Given the description of an element on the screen output the (x, y) to click on. 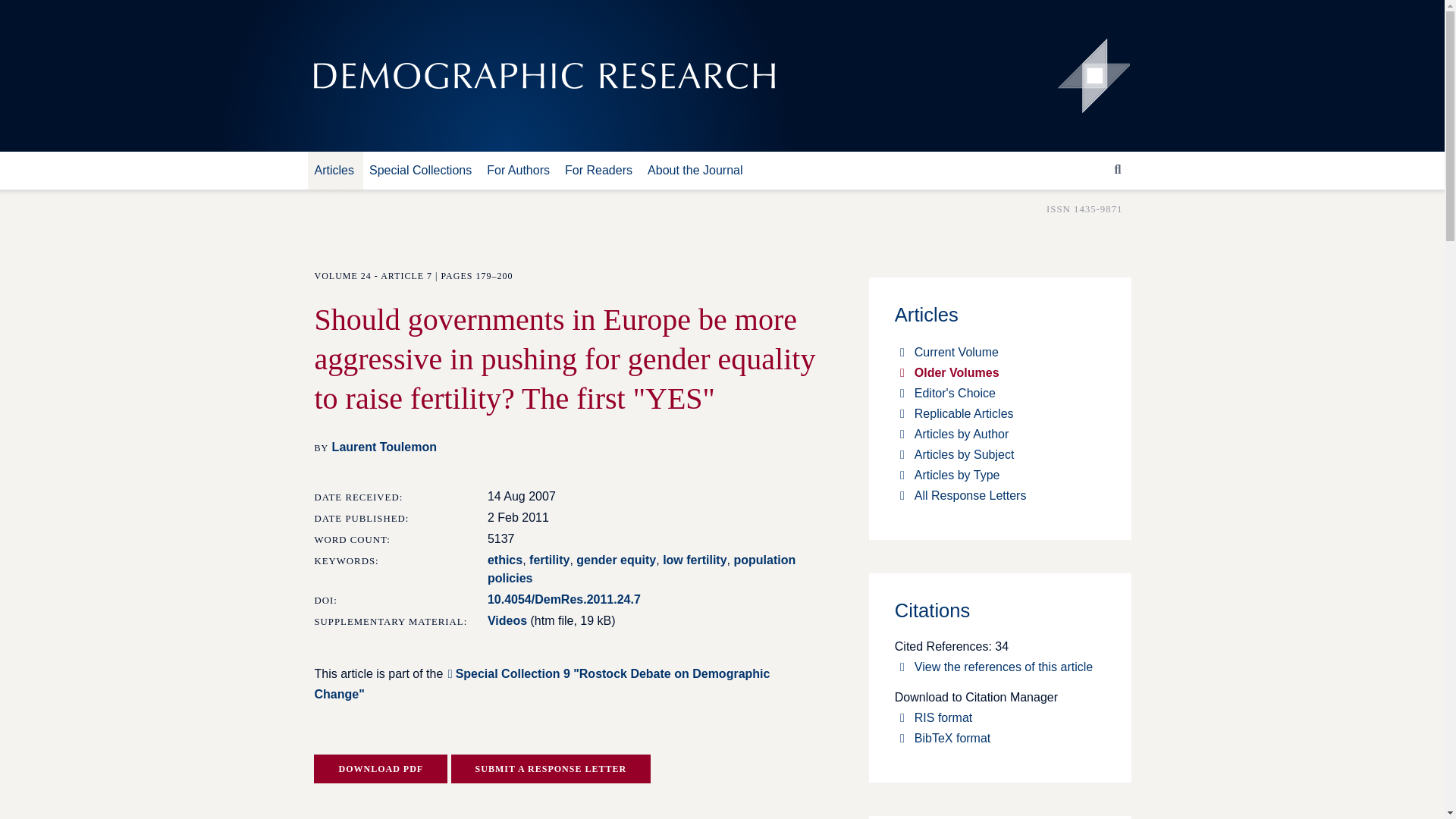
Articles (338, 170)
About the Journal (700, 170)
For Authors (522, 170)
Special Collections (424, 170)
For Readers (603, 170)
